Given the description of an element on the screen output the (x, y) to click on. 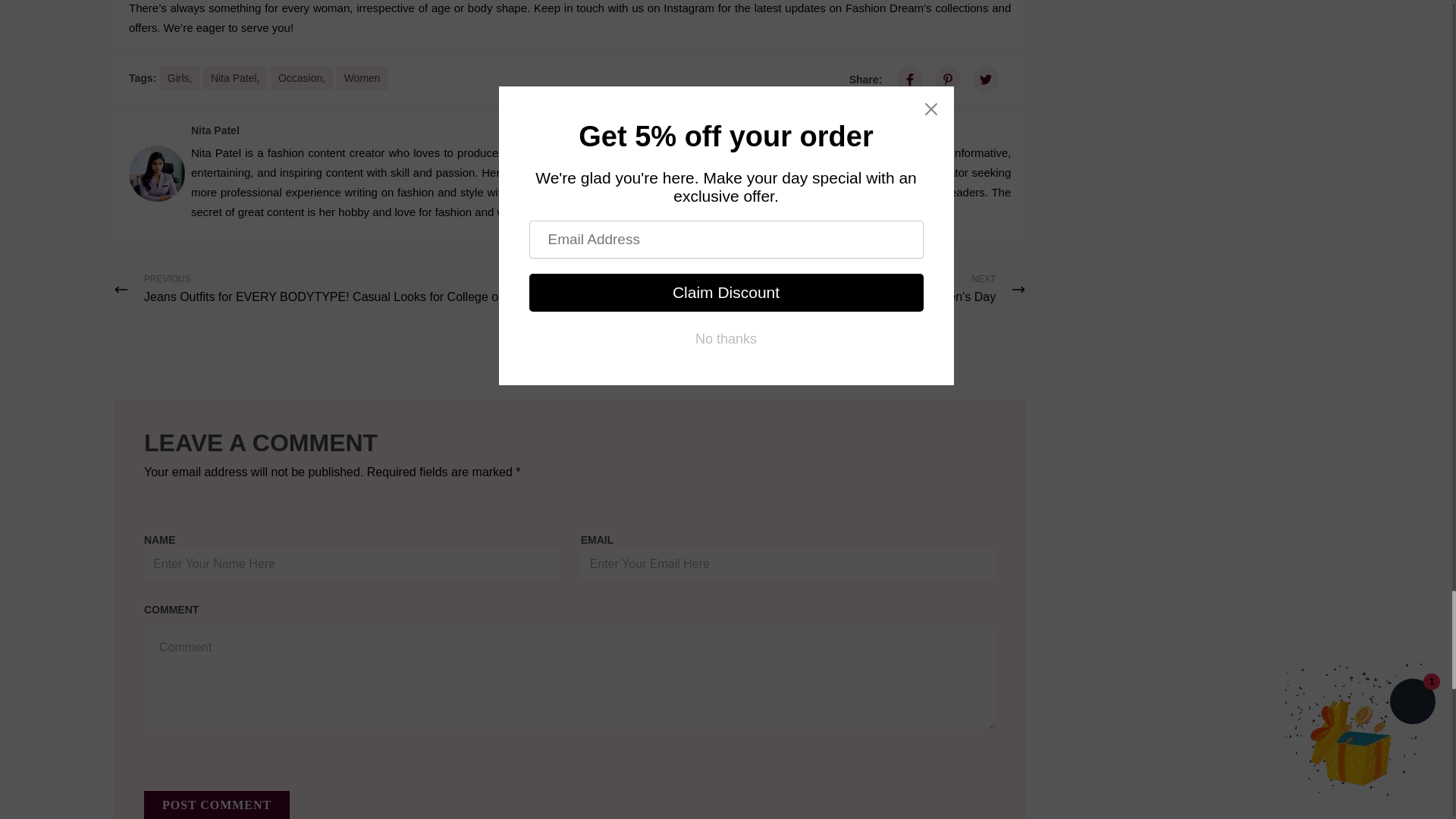
POST COMMENT (216, 805)
